Given the description of an element on the screen output the (x, y) to click on. 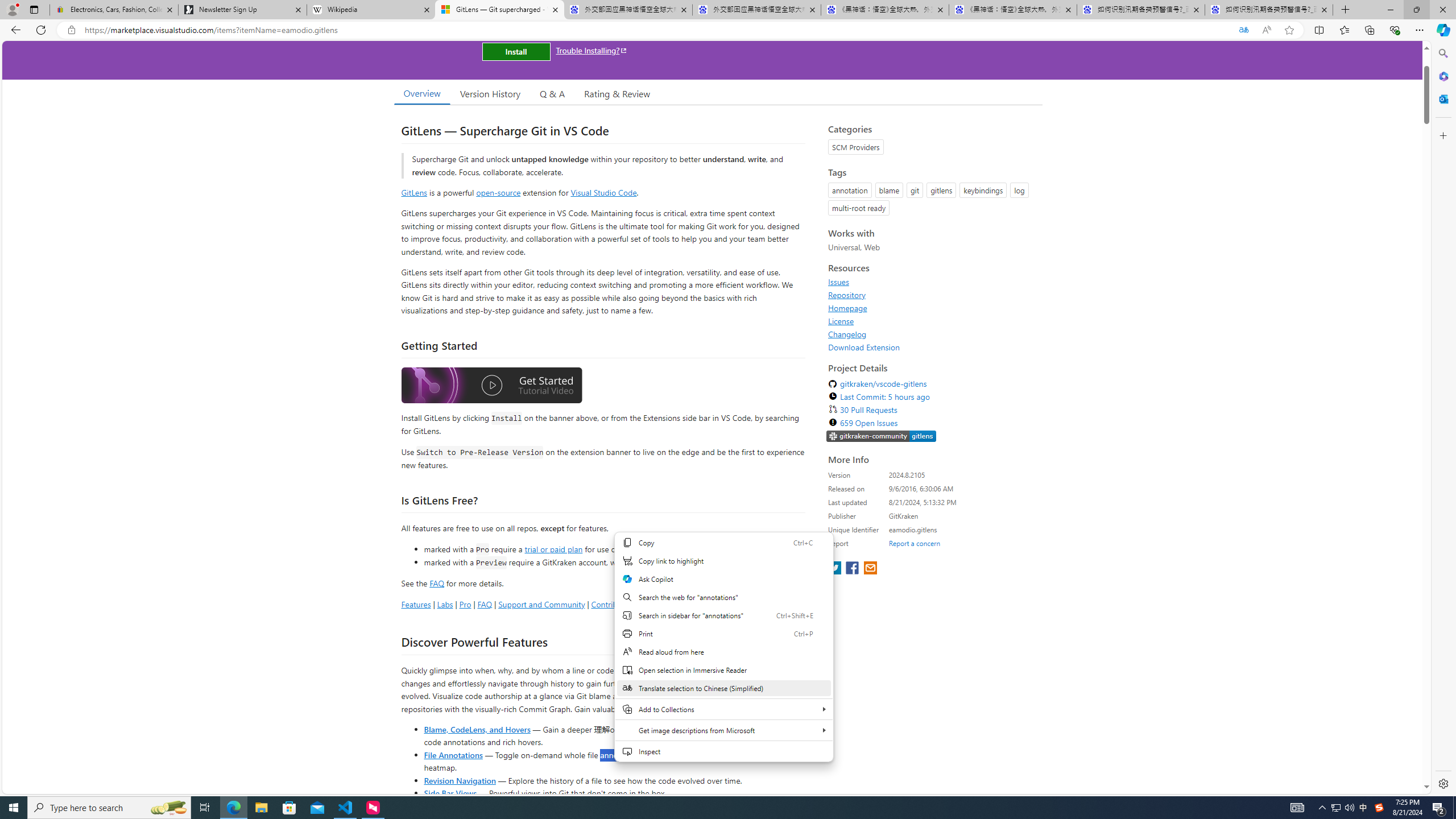
License (931, 320)
trial or paid plan (553, 548)
Search in sidebar for "annotations" (723, 615)
Translate selection to Chinese (Simplified) (723, 687)
